Given the description of an element on the screen output the (x, y) to click on. 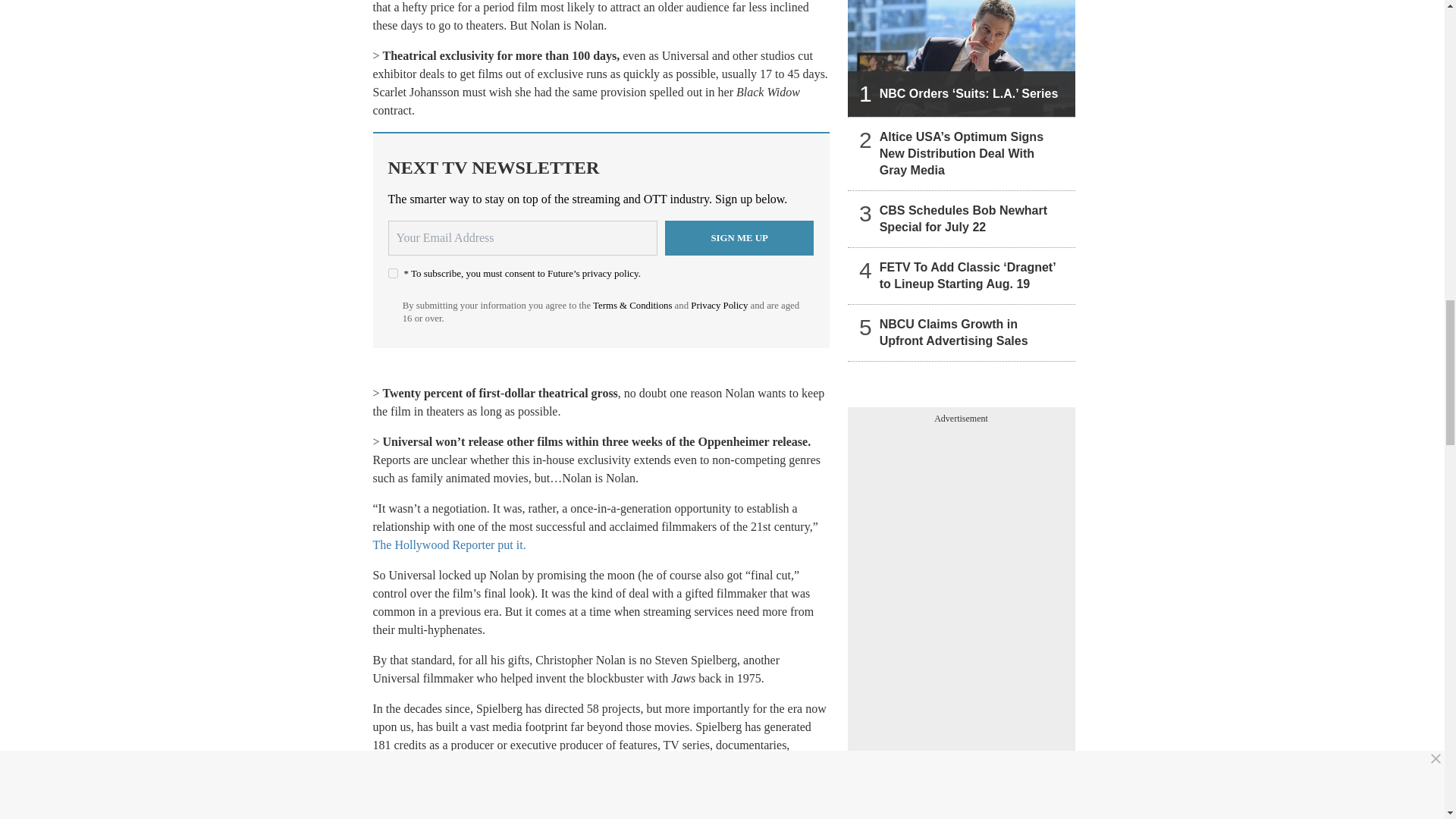
on (392, 273)
The Hollywood Reporter put it. (448, 544)
Sign me up (739, 237)
Privacy Policy (719, 305)
Sign me up (739, 237)
